Given the description of an element on the screen output the (x, y) to click on. 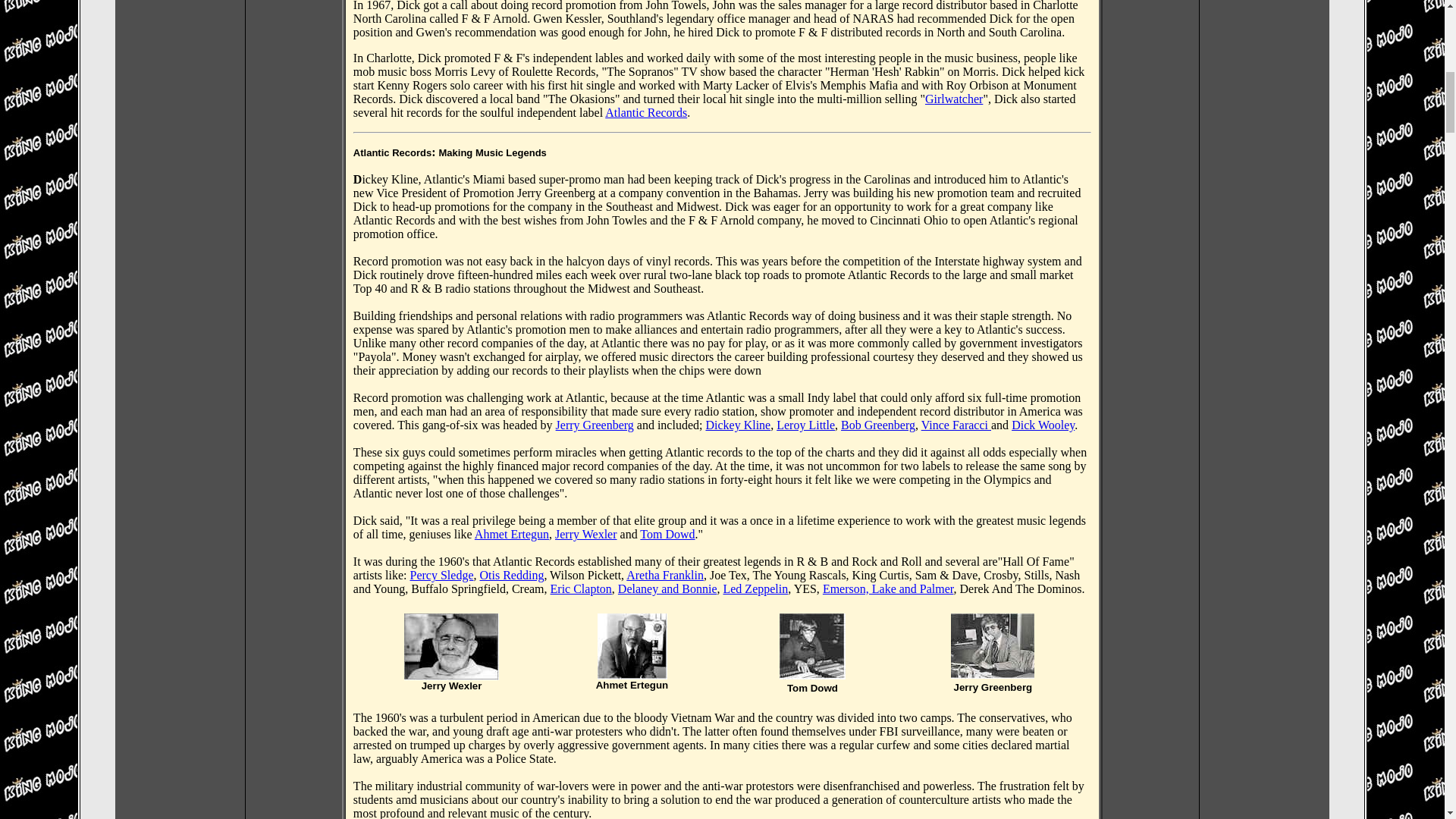
Eric Clapton (580, 588)
Girlwatcher (953, 98)
Atlantic Records (646, 112)
Dick Wooley (1042, 424)
Ahmet Ertegun (511, 533)
Delaney and Bonnie (667, 588)
Aretha Franklin (664, 574)
Emerson, Lake and Palmer (887, 588)
Jerry Wexler (585, 533)
Dickey Kline (737, 424)
Percy Sledge (442, 574)
Otis Redding (511, 574)
Bob Greenberg (878, 424)
Jerry Greenberg (594, 424)
Vince Faracci (956, 424)
